Given the description of an element on the screen output the (x, y) to click on. 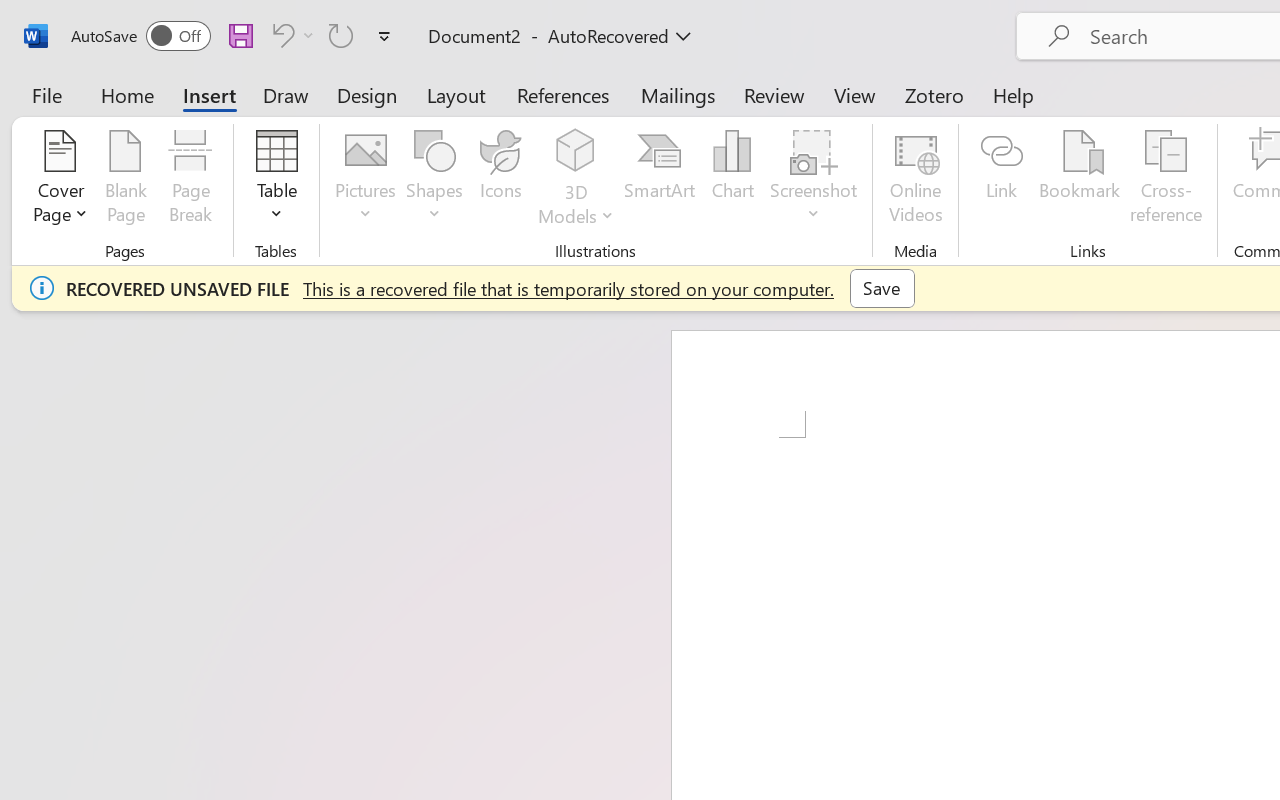
Cover Page (60, 179)
Table (276, 179)
3D Models (576, 151)
Online Videos... (915, 179)
Screenshot (813, 179)
